Given the description of an element on the screen output the (x, y) to click on. 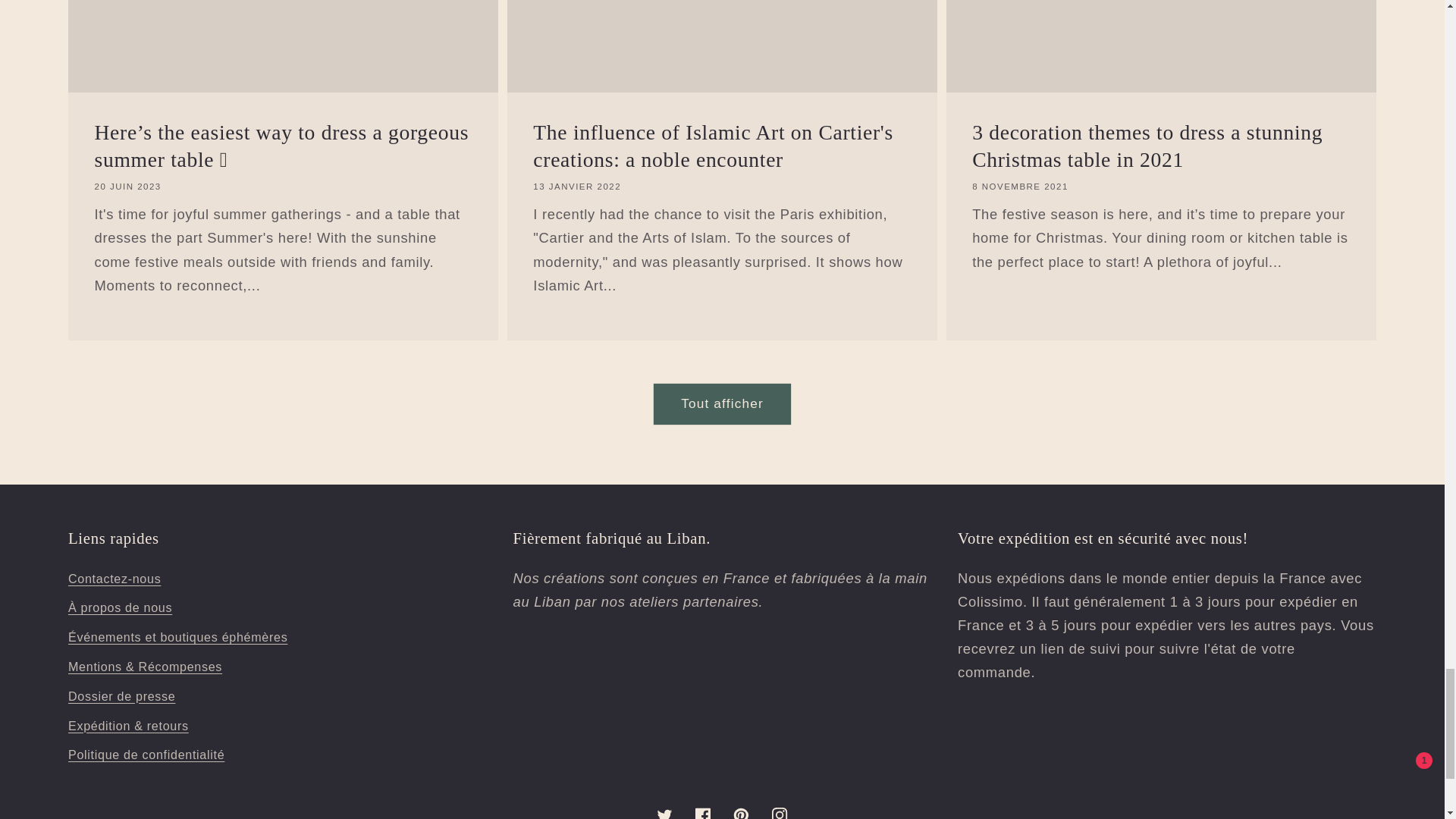
Tout afficher (721, 404)
